Given the description of an element on the screen output the (x, y) to click on. 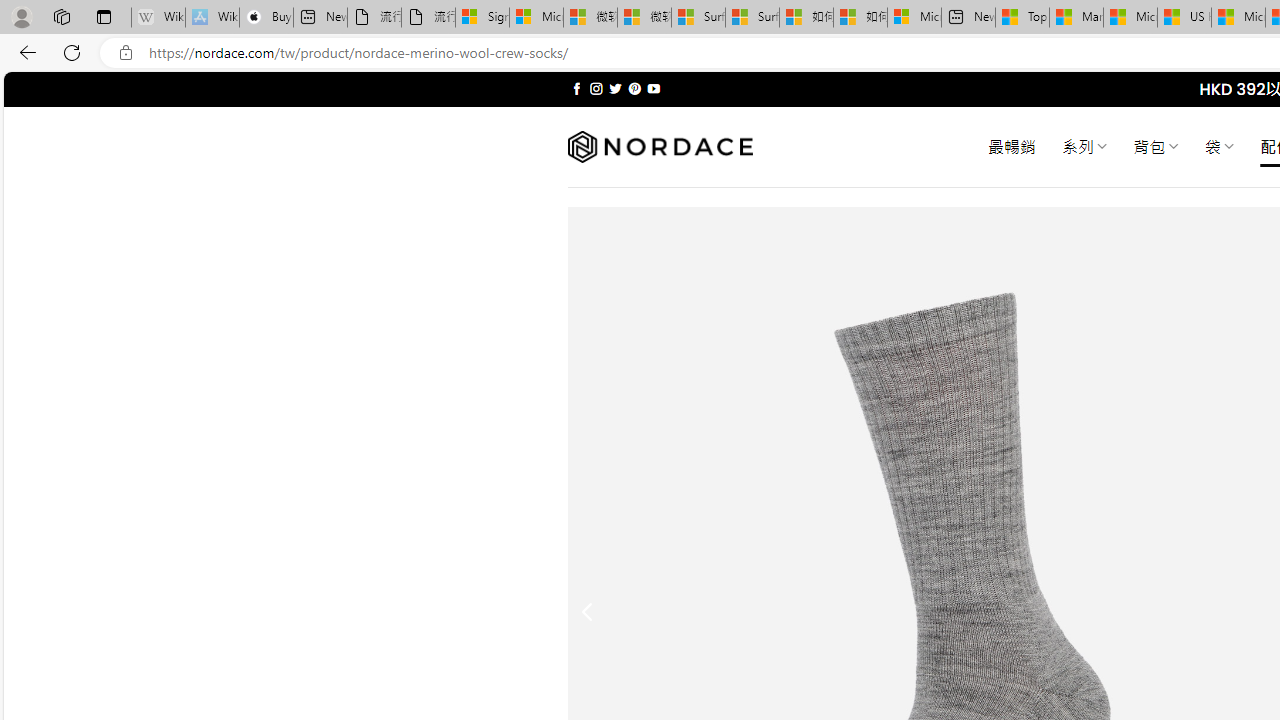
Follow on YouTube (653, 88)
Follow on Instagram (596, 88)
Follow on Pinterest (634, 88)
